Given the description of an element on the screen output the (x, y) to click on. 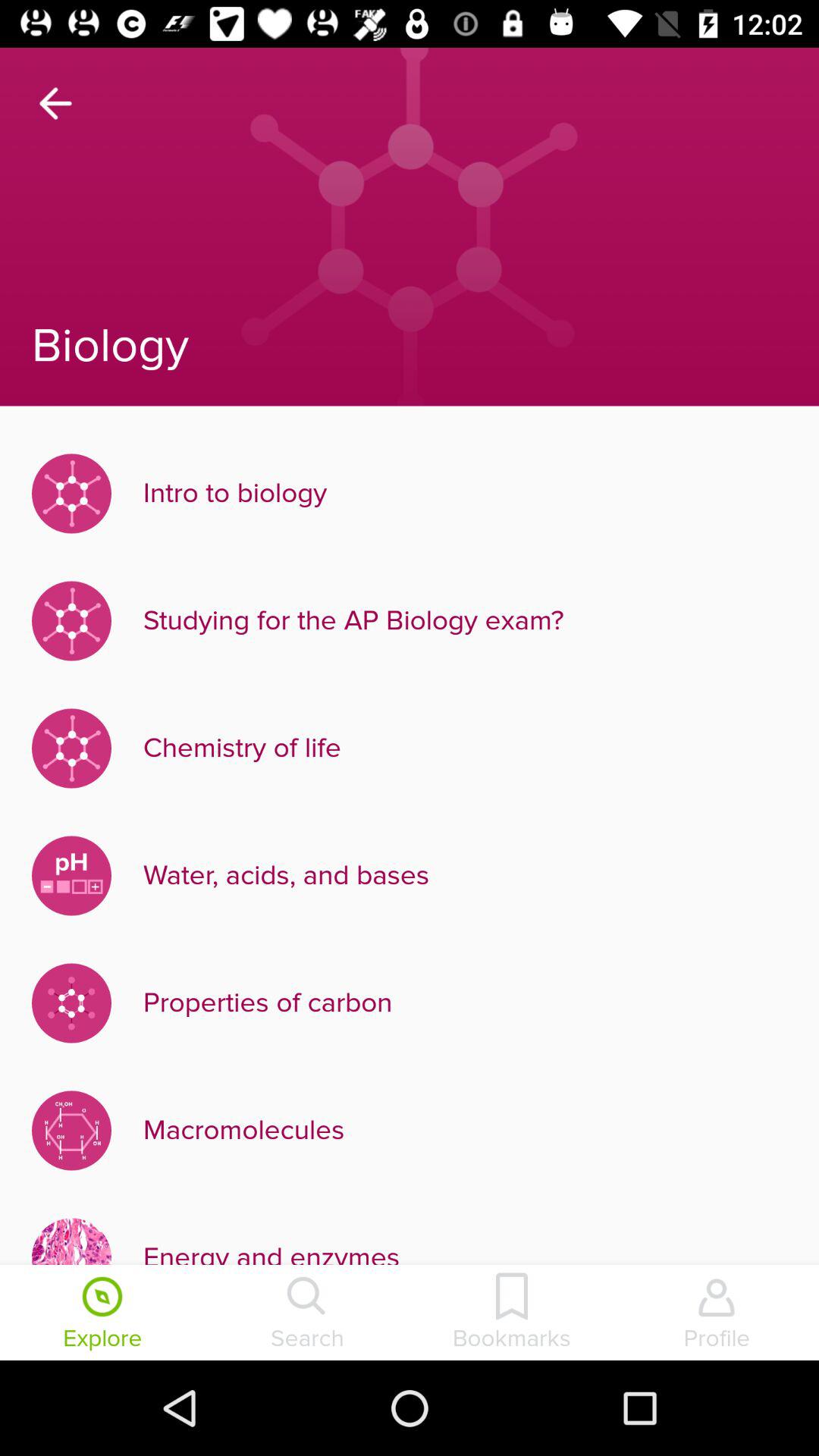
turn off item at the bottom right corner (716, 1314)
